Given the description of an element on the screen output the (x, y) to click on. 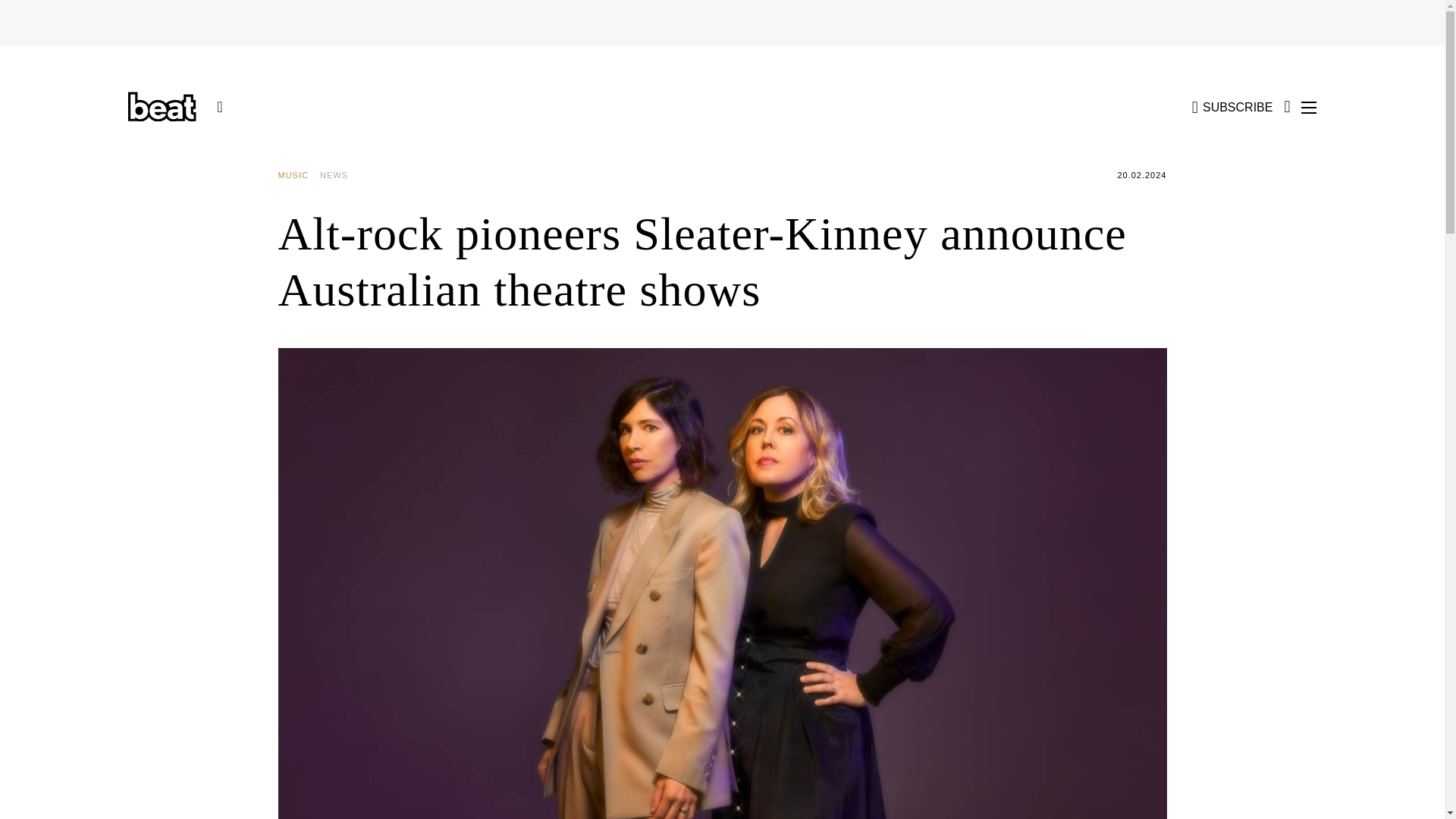
NEWS (339, 175)
MUSIC (298, 175)
